Given the description of an element on the screen output the (x, y) to click on. 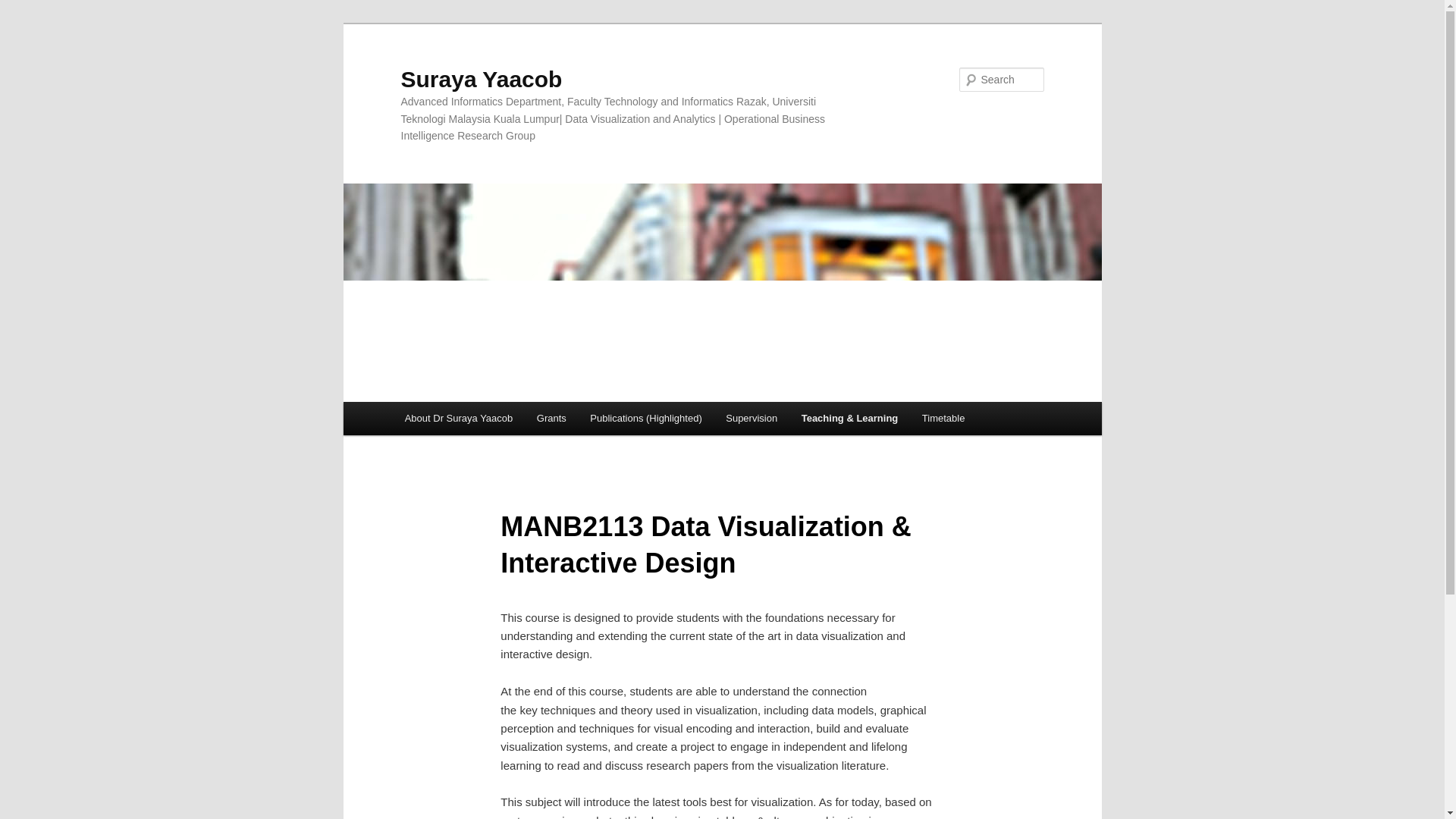
Supervision (751, 418)
Search (24, 8)
About Dr Suraya Yaacob (458, 418)
Suraya Yaacob (481, 78)
Grants (551, 418)
Timetable (943, 418)
